Given the description of an element on the screen output the (x, y) to click on. 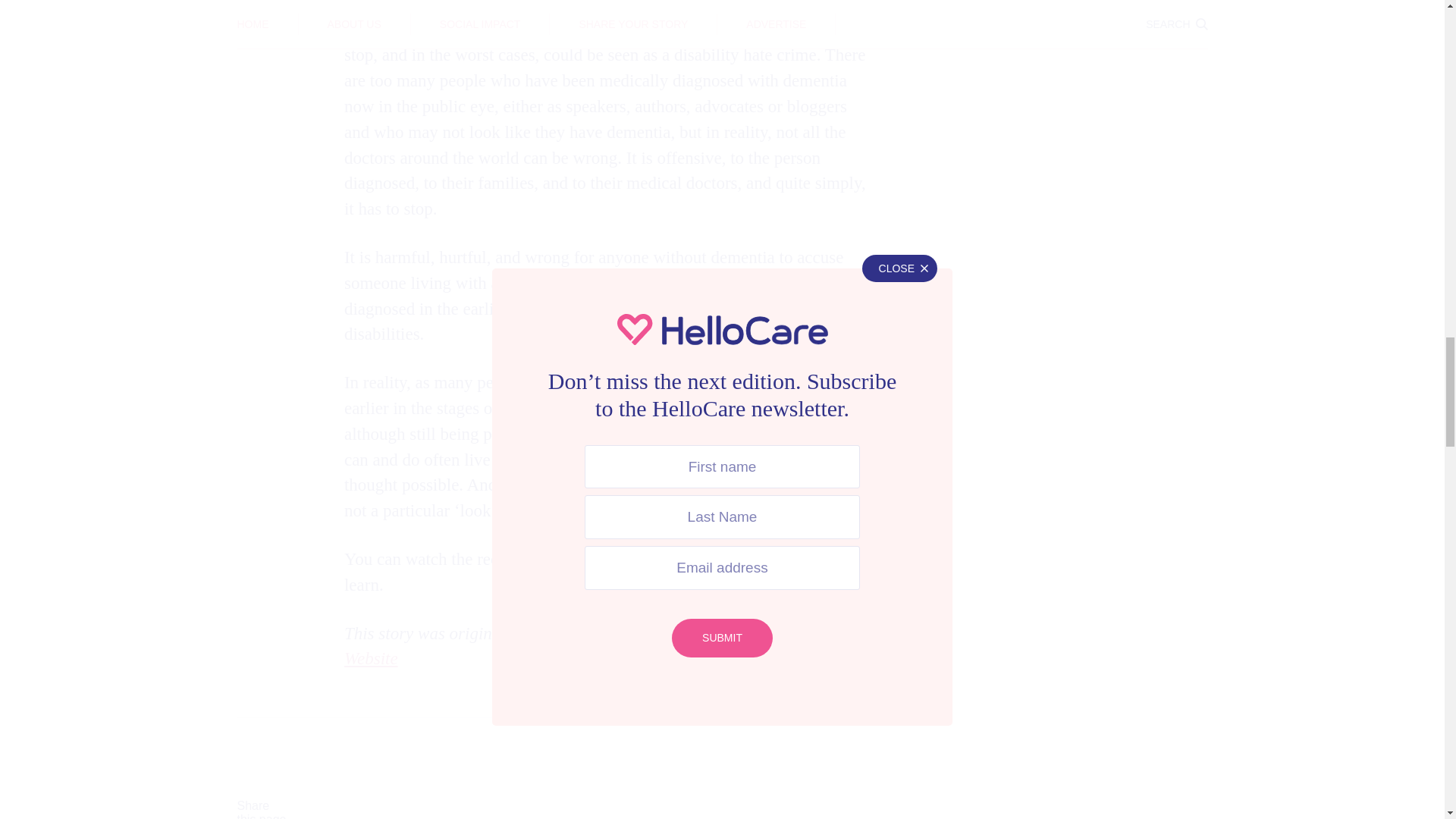
Share on Twitter (512, 787)
Share on Facebook (372, 787)
Share on linkedIn (652, 787)
Share via Email (792, 787)
